Given the description of an element on the screen output the (x, y) to click on. 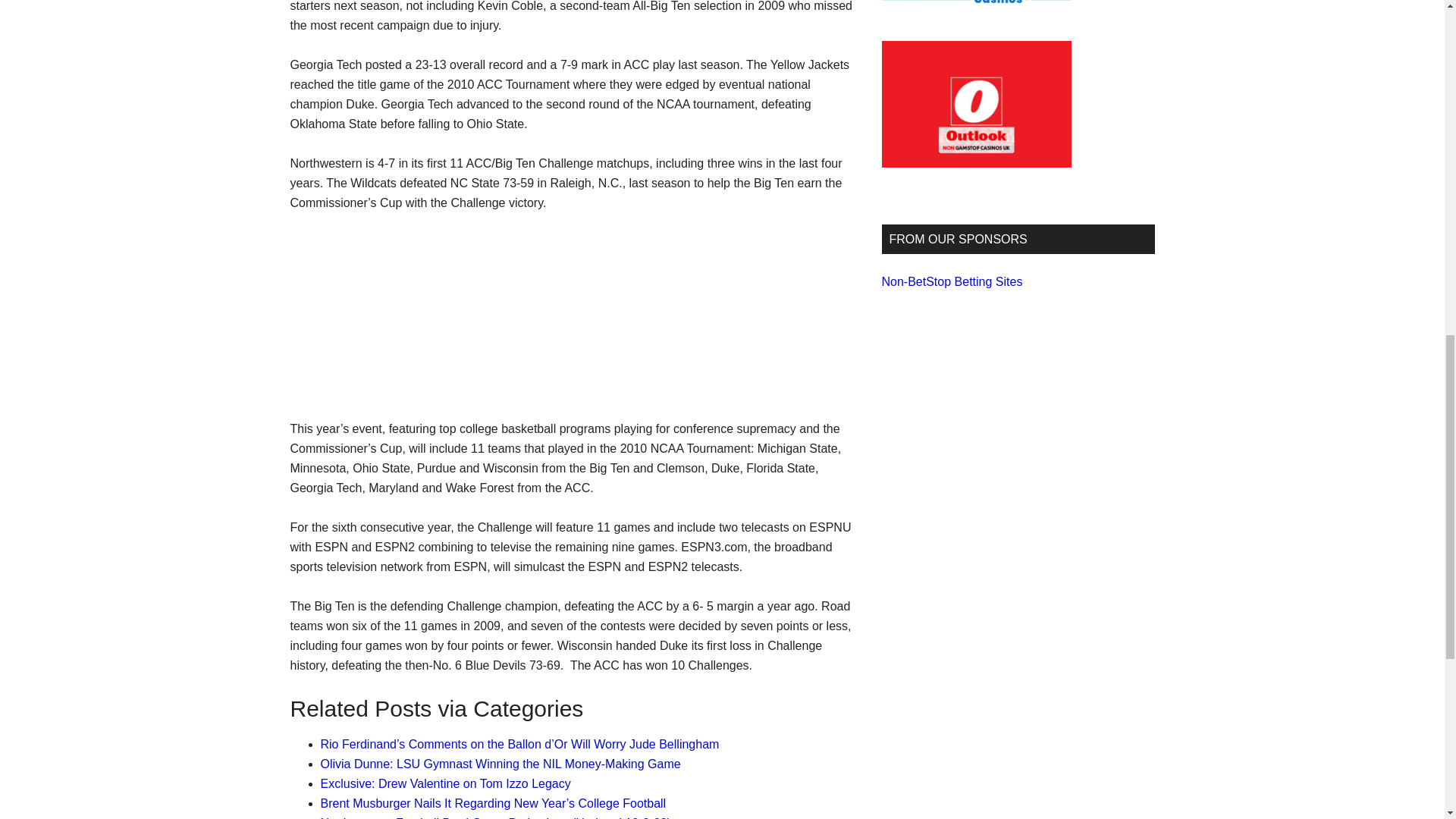
georgiatech (402, 308)
Olivia Dunne: LSU Gymnast Winning the NIL Money-Making Game (499, 763)
Olivia Dunne: LSU Gymnast Winning the NIL Money-Making Game (499, 763)
Exclusive: Drew Valentine on Tom Izzo Legacy (445, 783)
Exclusive: Drew Valentine on Tom Izzo Legacy (445, 783)
